Given the description of an element on the screen output the (x, y) to click on. 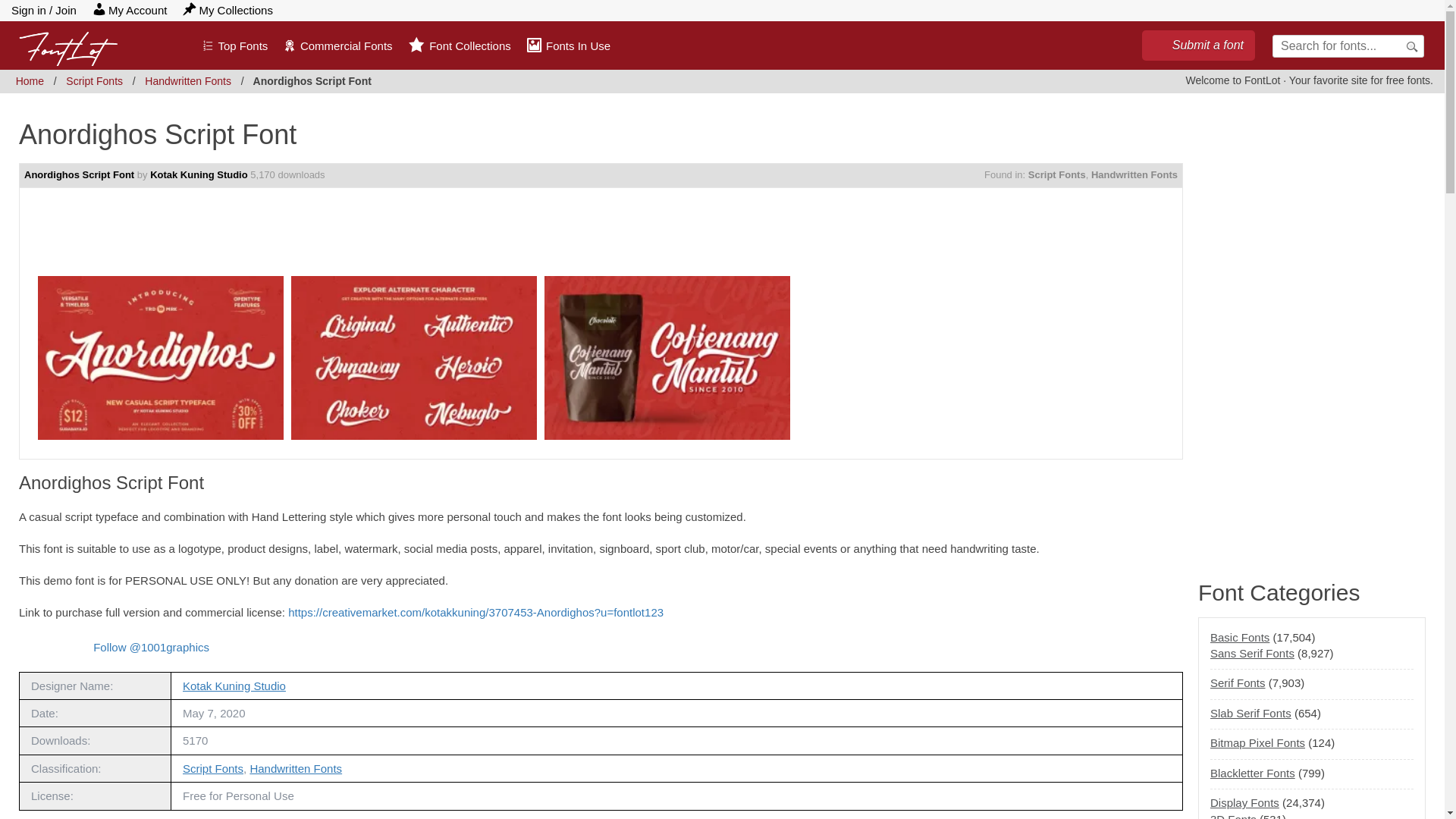
Home (29, 80)
Commercial Fonts (336, 45)
Script Fonts (94, 80)
Handwritten Fonts (1133, 174)
Fonts In Use (567, 45)
Anordighos Script Font (78, 174)
Kotak Kuning Studio (198, 174)
Handwritten Fonts (187, 80)
Anordighos Script Font (312, 80)
My Collections (227, 10)
Anordighos Script Font (666, 357)
My Account (129, 10)
Anordighos Script Font (346, 245)
Font Collections (459, 45)
